Given the description of an element on the screen output the (x, y) to click on. 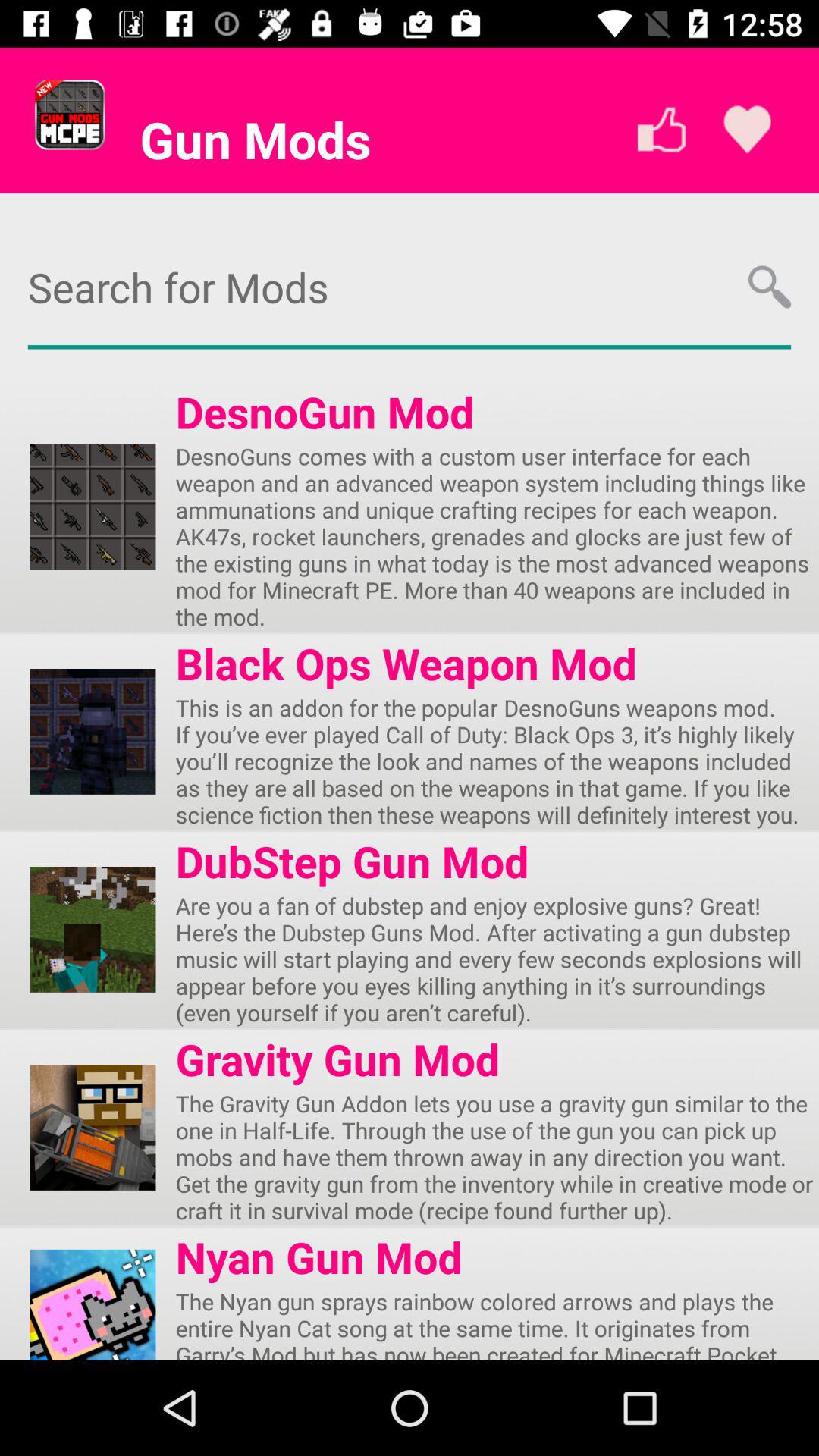
click the this is an item (497, 760)
